Given the description of an element on the screen output the (x, y) to click on. 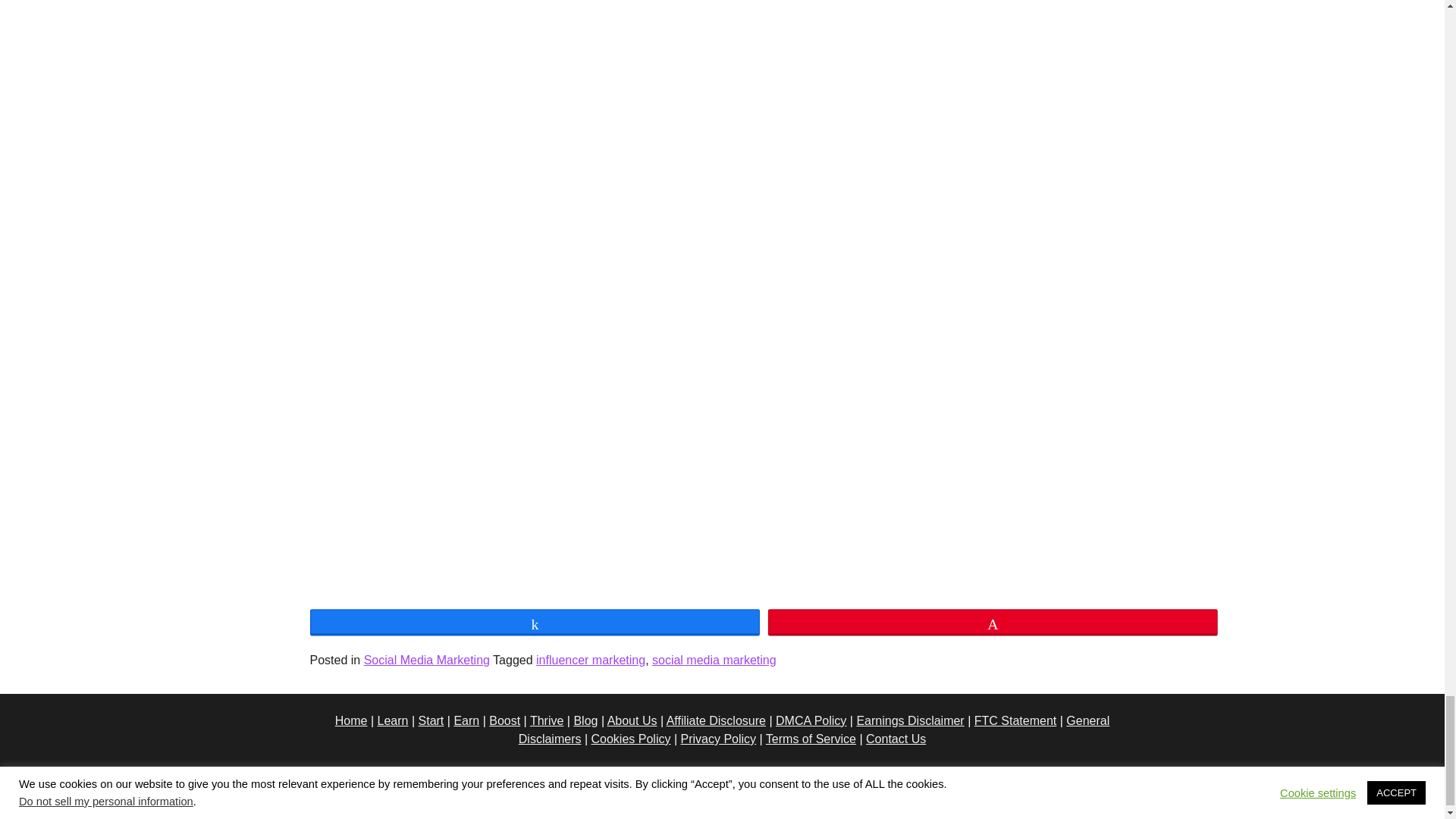
influencer marketing (590, 659)
DMCA Policy (810, 720)
About Us (632, 720)
Aspen Grove Studios (941, 783)
Privacy Policy (482, 783)
Boost (504, 720)
Contact Us (896, 738)
Earn (465, 720)
Affiliate Disclosure (715, 720)
Thrive (546, 720)
General Disclaimers (813, 729)
Social Media Marketing (426, 659)
Privacy Policy (719, 738)
Learn (393, 720)
FTC Statement (1015, 720)
